Given the description of an element on the screen output the (x, y) to click on. 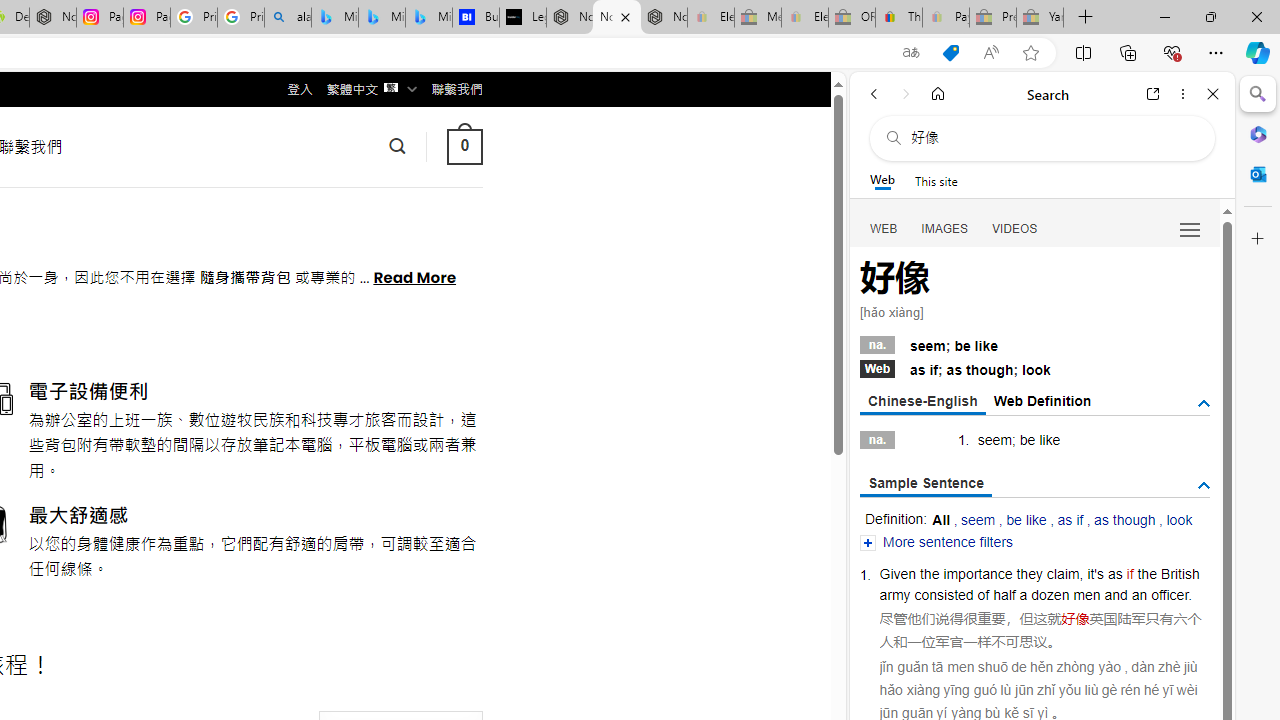
AutomationID: tgdef (1203, 404)
Search Filter, WEB (884, 228)
a (1022, 594)
importance (977, 573)
be like (1026, 520)
look (1179, 520)
like (1050, 439)
